Given the description of an element on the screen output the (x, y) to click on. 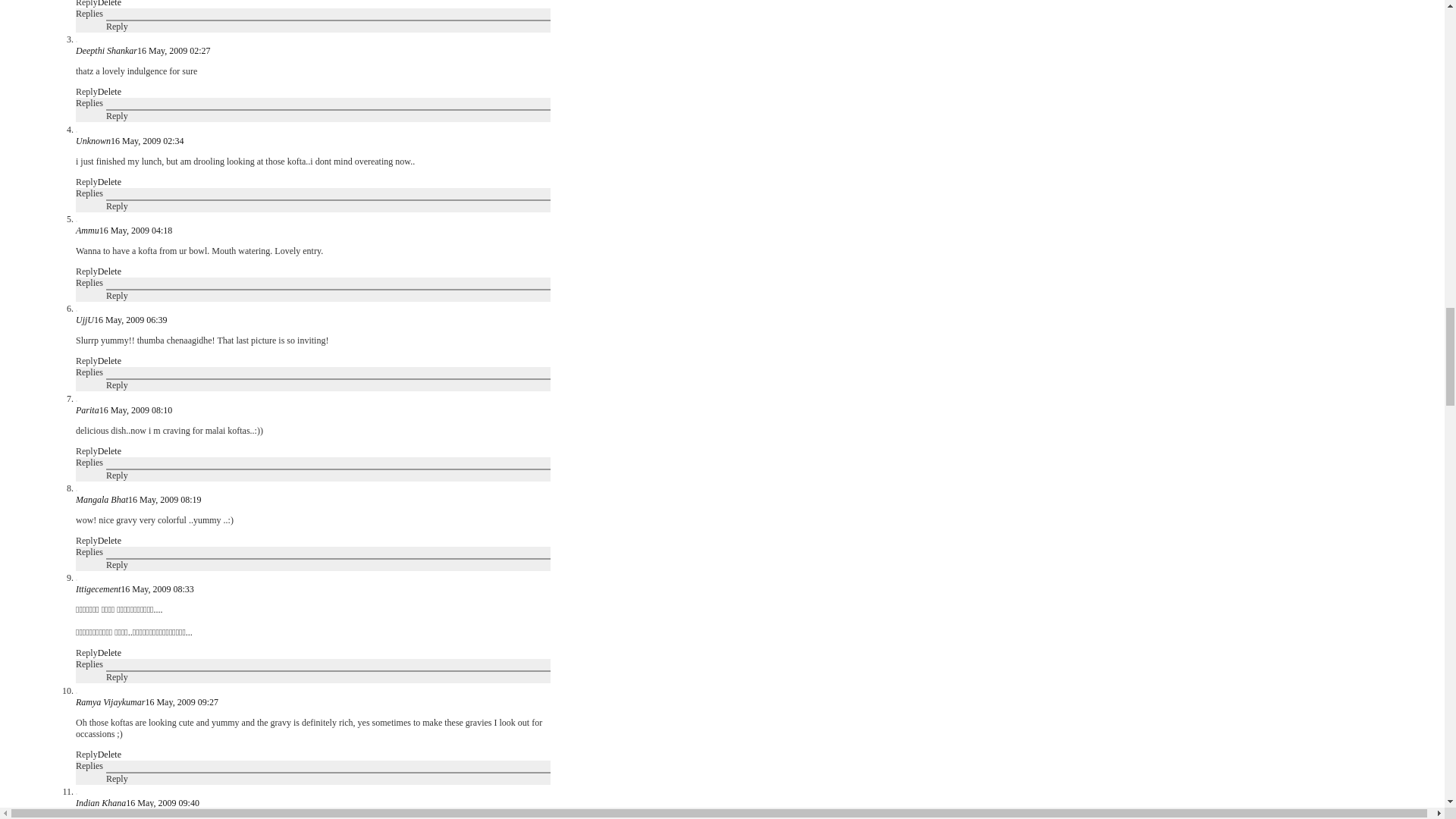
Reply (86, 91)
Reply (117, 115)
Delete (108, 91)
Replies (89, 13)
16 May, 2009 02:34 (147, 140)
Reply (117, 26)
Deepthi Shankar (105, 50)
Reply (86, 181)
16 May, 2009 02:27 (173, 50)
Reply (86, 3)
Replies (89, 102)
Unknown (92, 140)
Delete (108, 3)
